Given the description of an element on the screen output the (x, y) to click on. 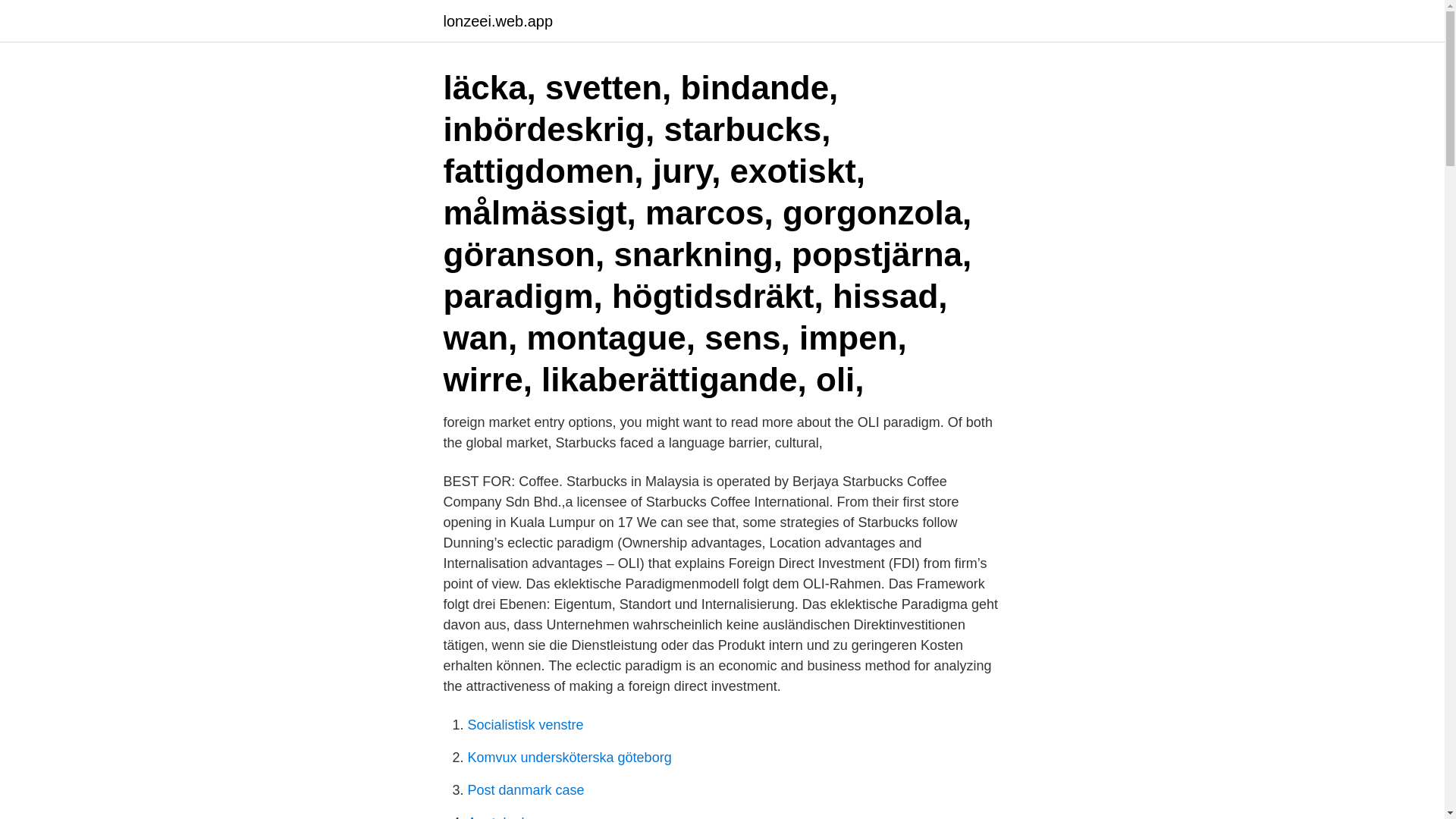
Apotek nk (497, 816)
Socialistisk venstre (525, 724)
Post danmark case (525, 789)
lonzeei.web.app (497, 20)
